Given the description of an element on the screen output the (x, y) to click on. 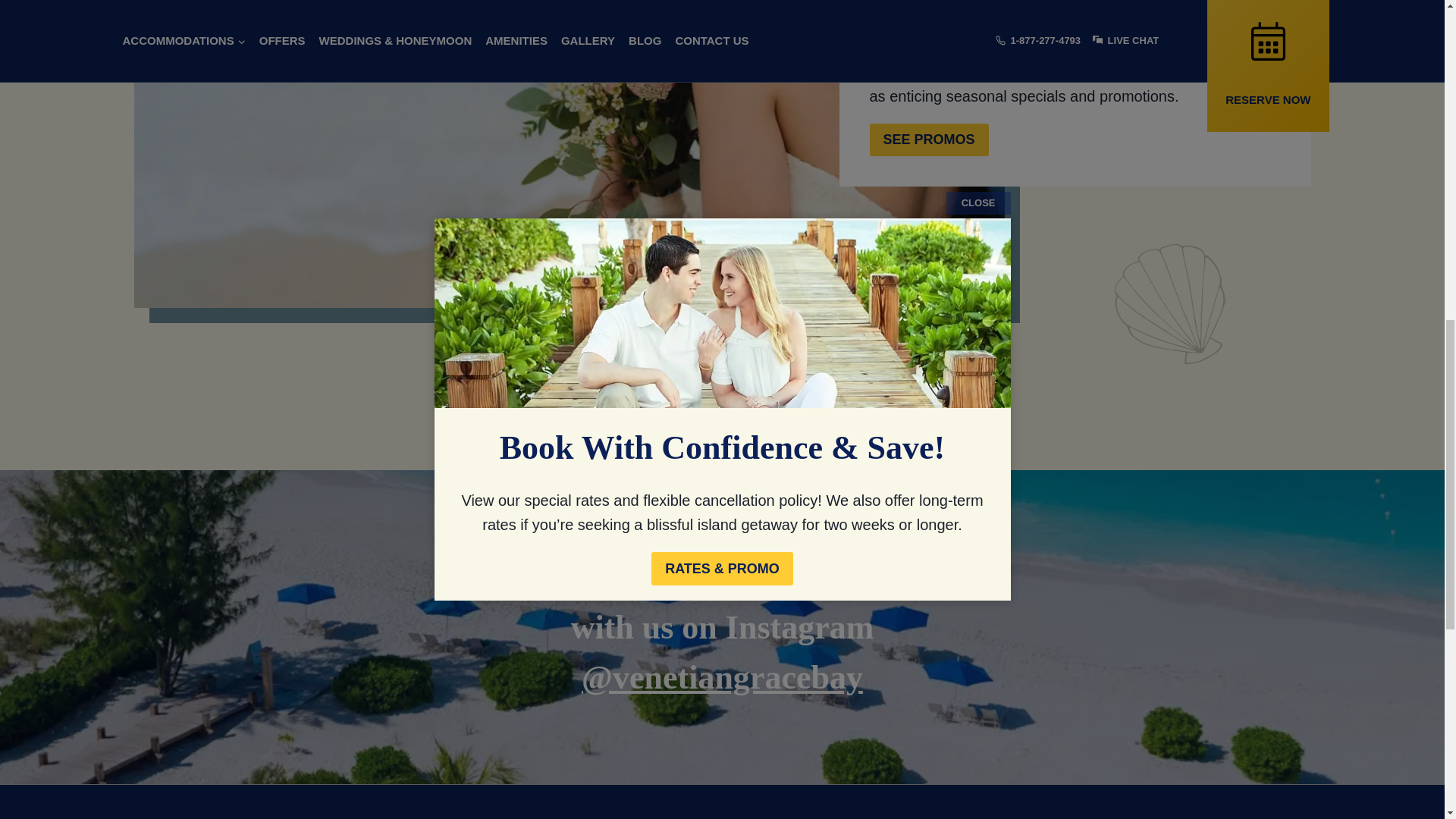
SEE PROMOS (928, 139)
